Given the description of an element on the screen output the (x, y) to click on. 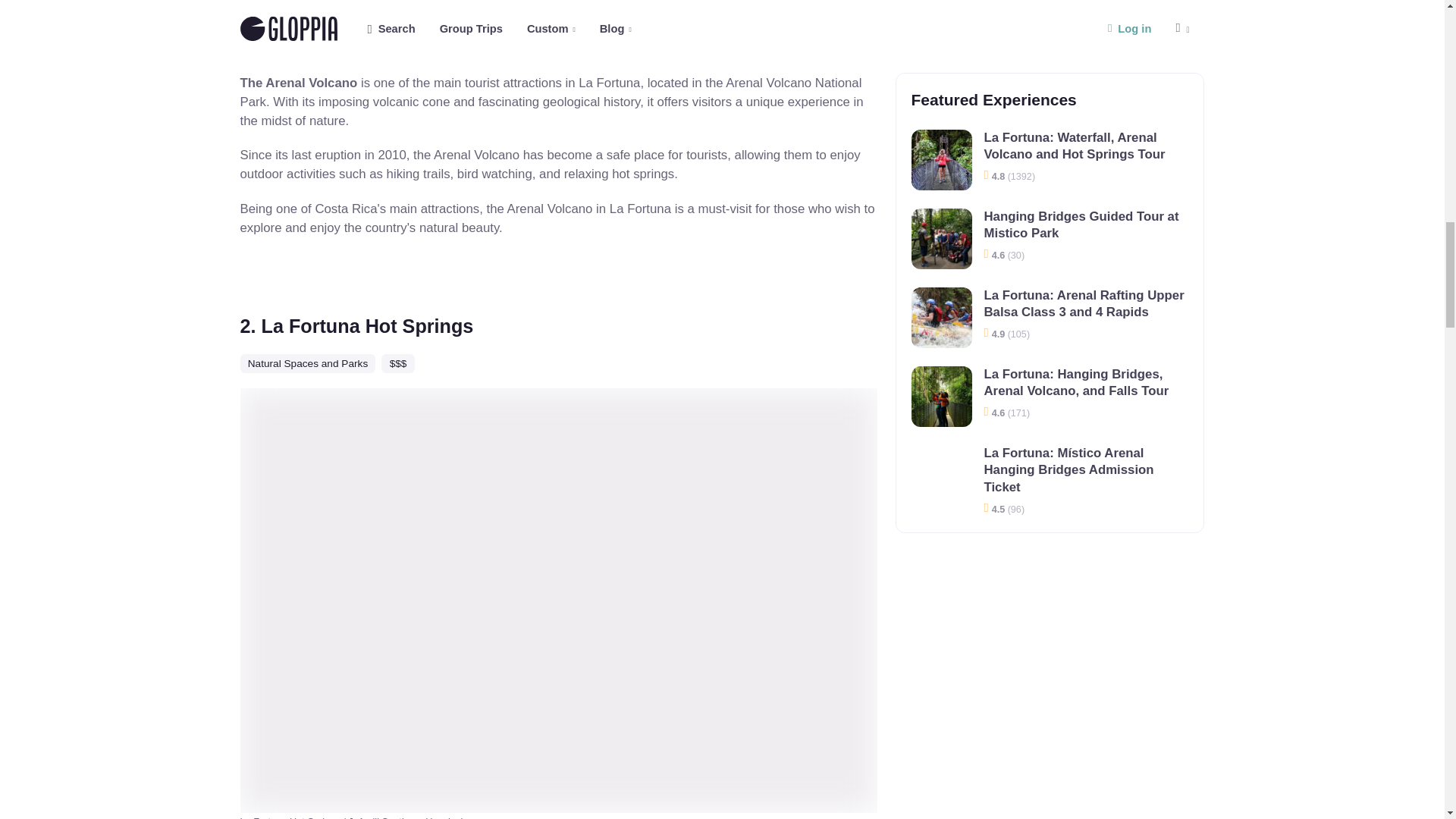
a view of a mountain with a cloud in the sky (558, 15)
